Given the description of an element on the screen output the (x, y) to click on. 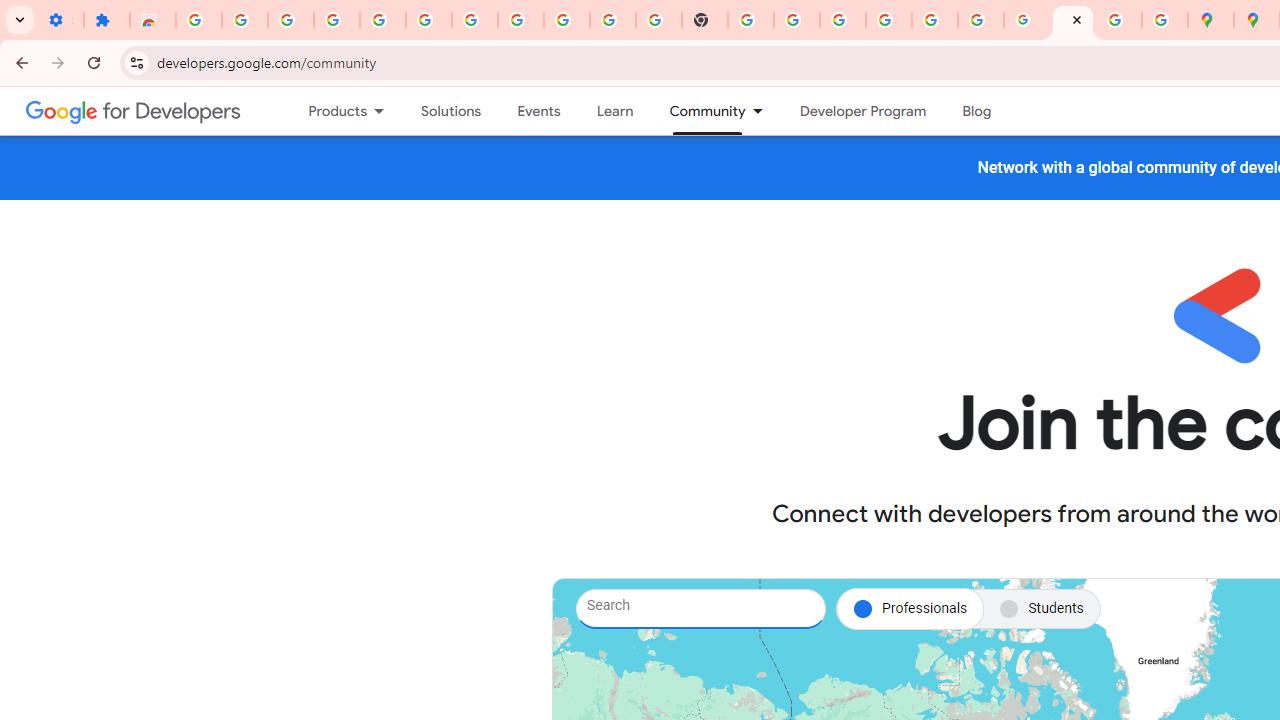
Events (538, 111)
Search (699, 608)
Products (329, 111)
Google Account (567, 20)
Solutions (451, 111)
New Tab (705, 20)
Sign in - Google Accounts (198, 20)
